Given the description of an element on the screen output the (x, y) to click on. 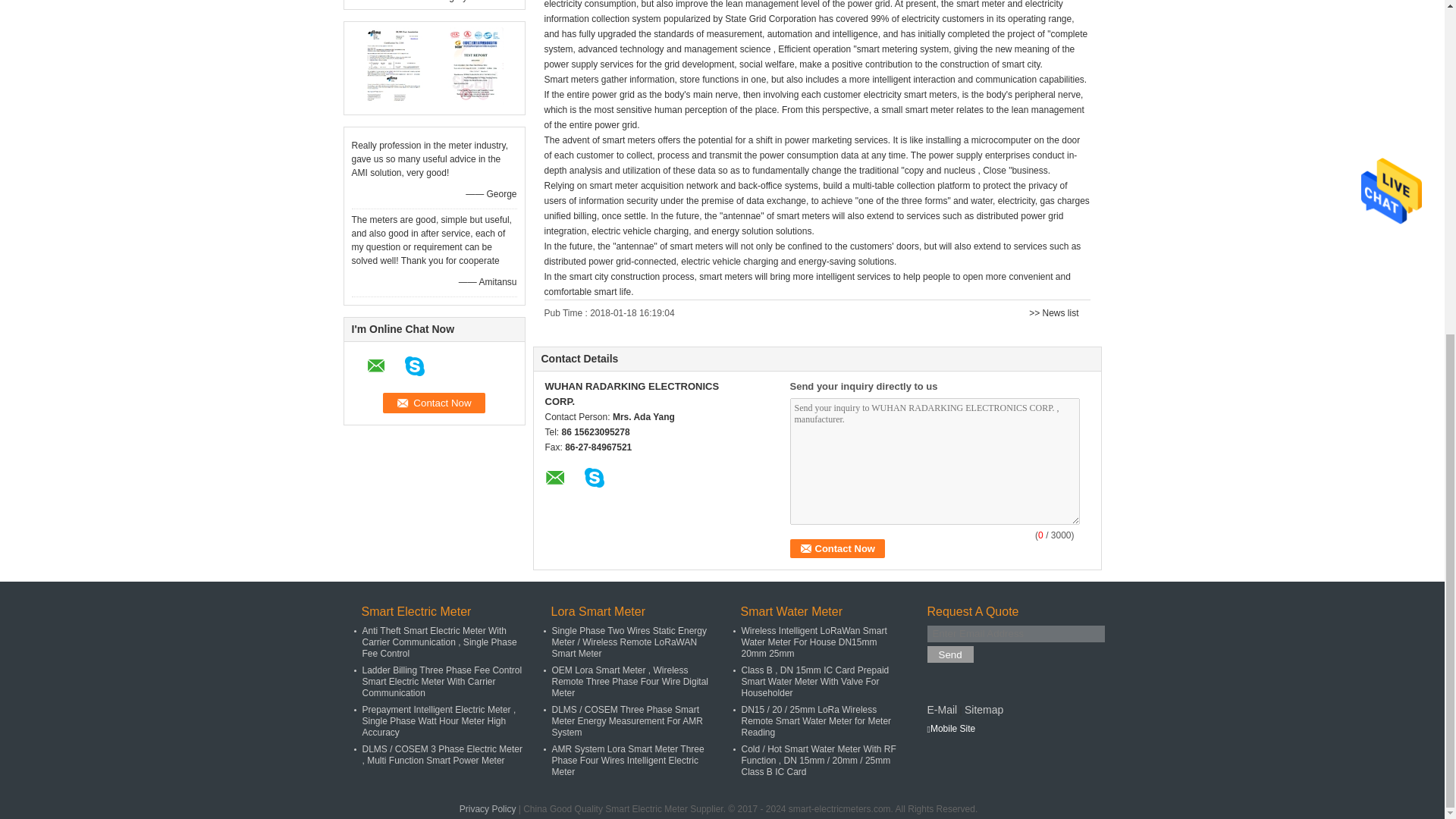
Contact Now (433, 403)
Contact Now (837, 547)
